Given the description of an element on the screen output the (x, y) to click on. 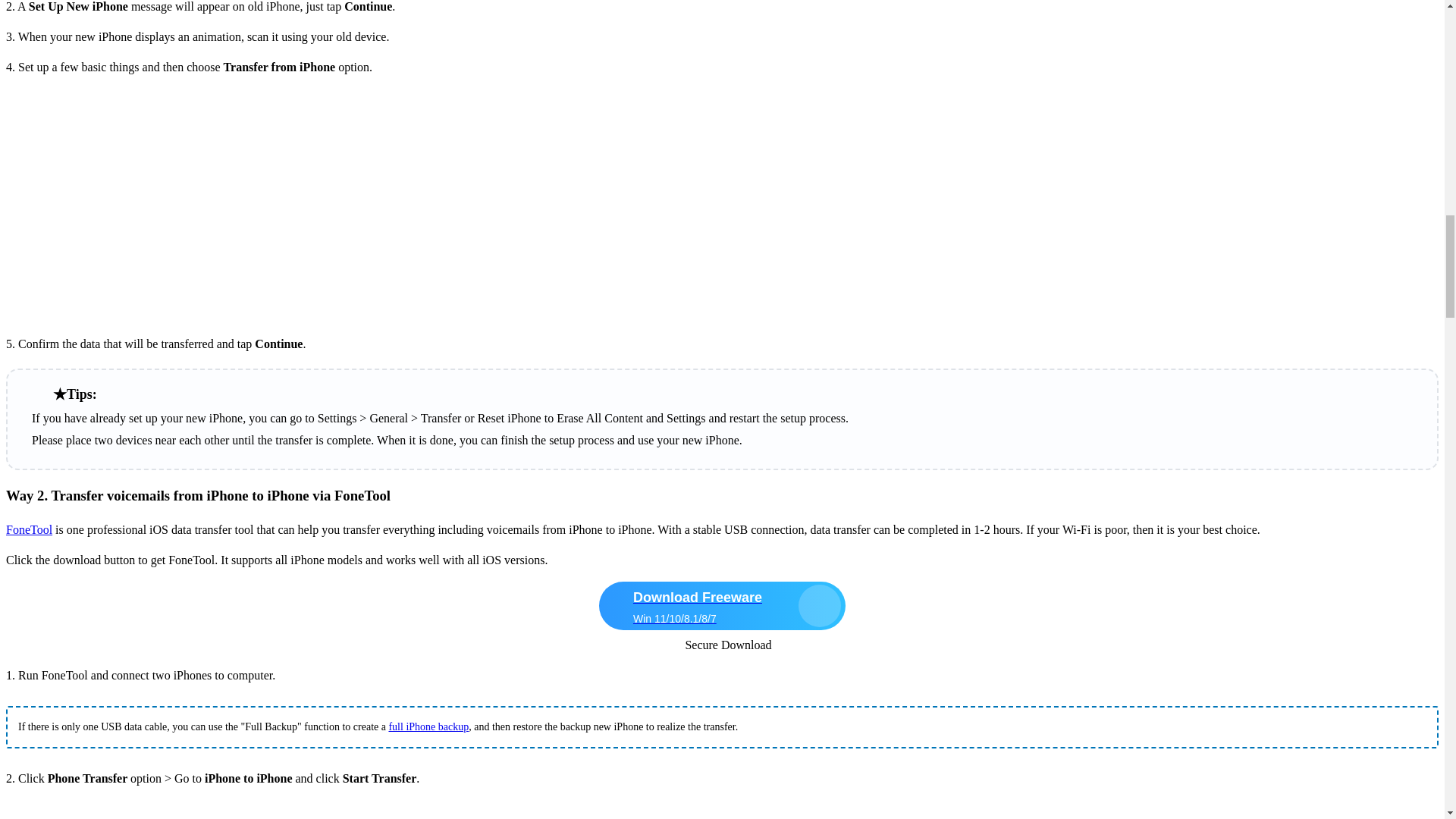
full iPhone backup (428, 726)
FoneTool (28, 529)
